Given the description of an element on the screen output the (x, y) to click on. 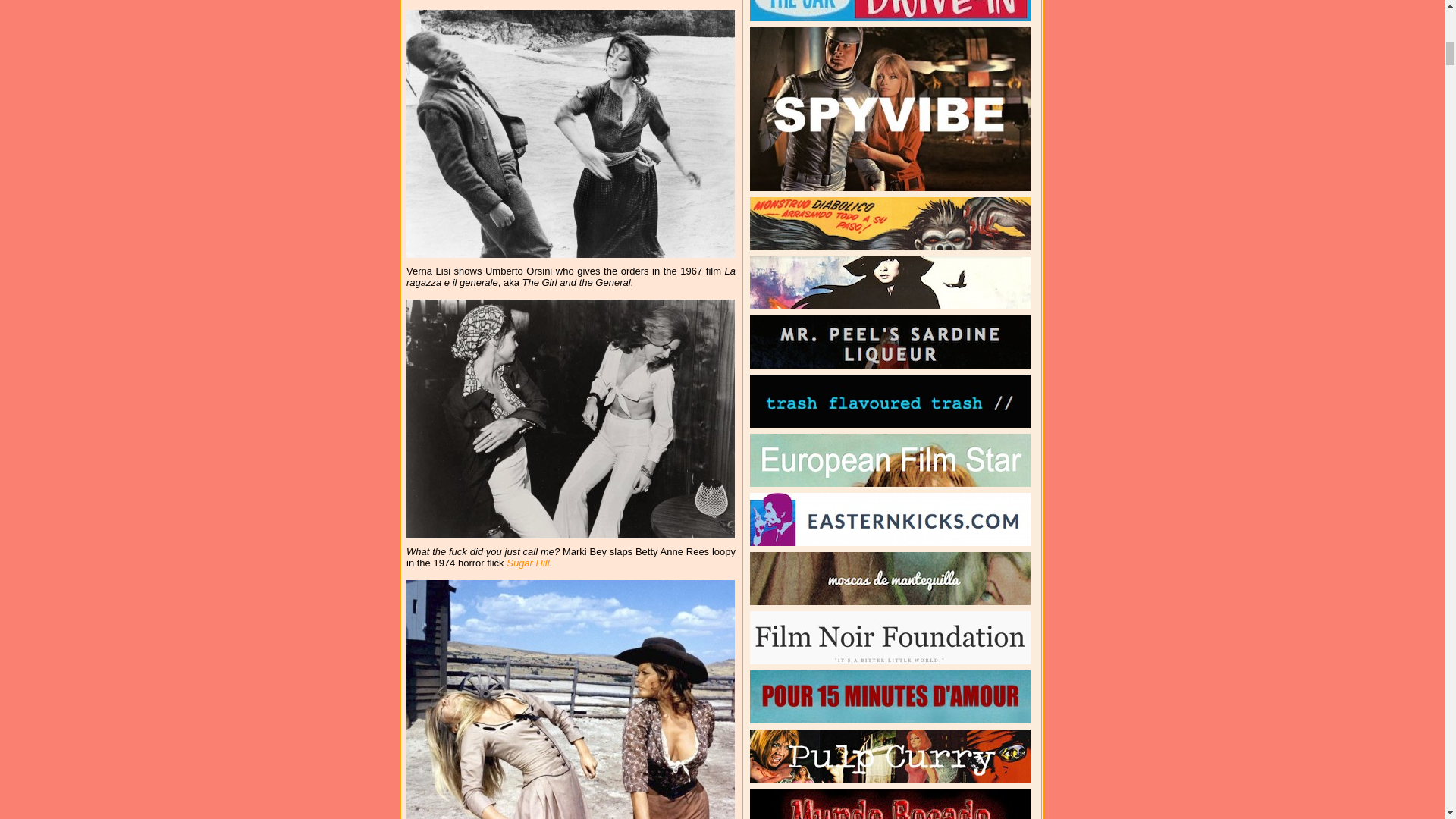
Sugar Hill (527, 562)
